Given the description of an element on the screen output the (x, y) to click on. 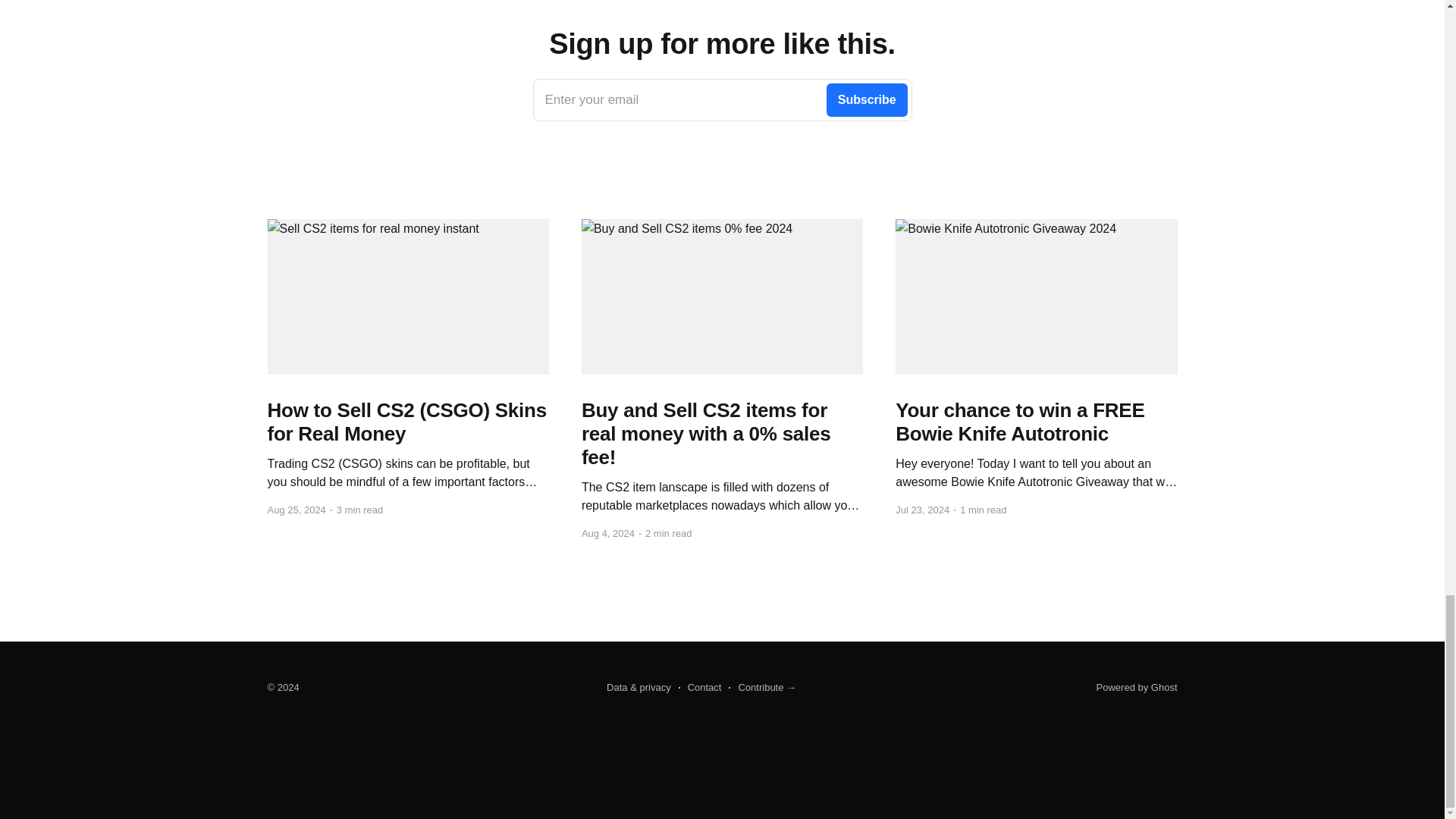
Contact (700, 687)
Powered by Ghost (1136, 686)
